Given the description of an element on the screen output the (x, y) to click on. 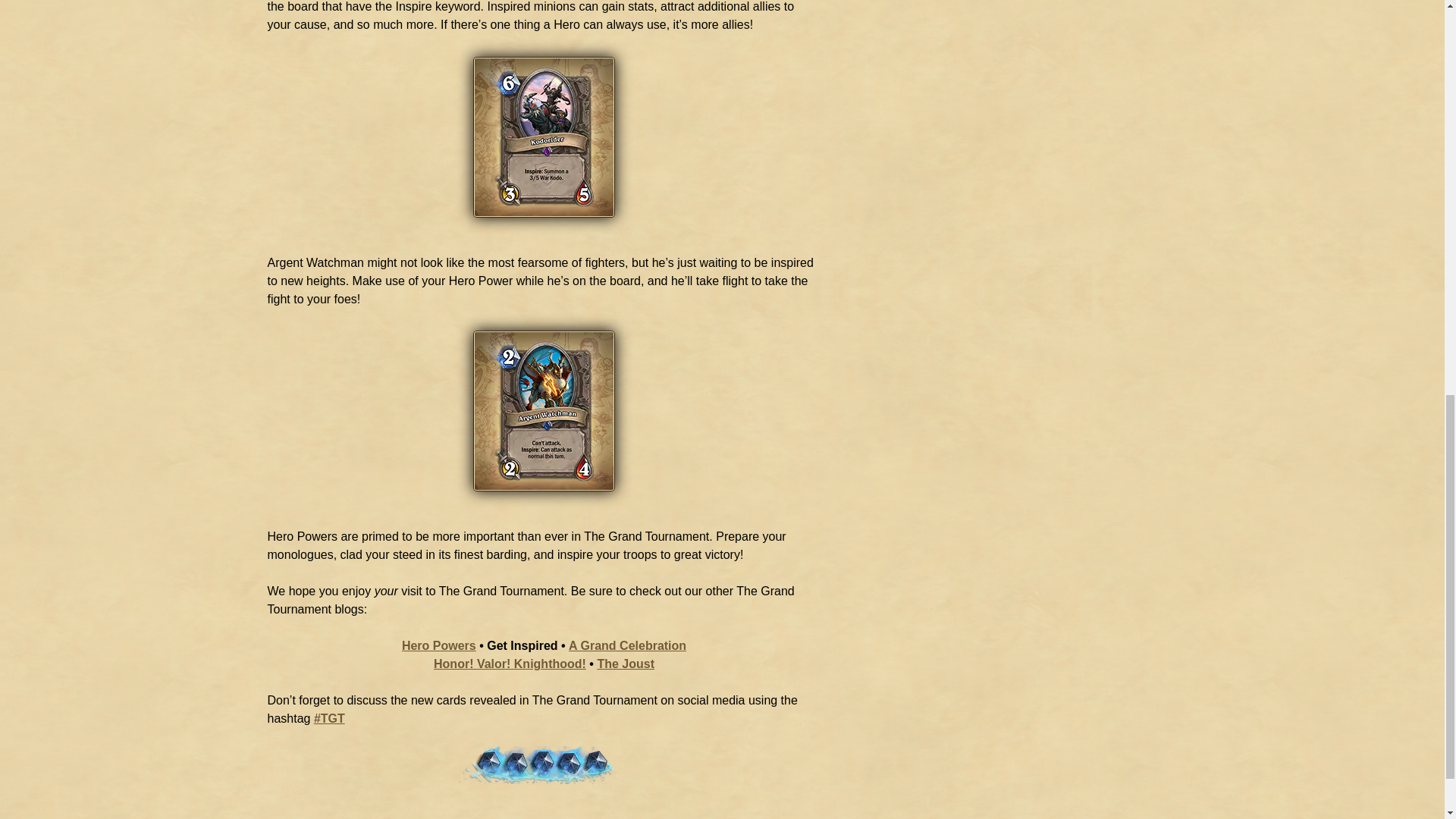
Honor! Valor! Knighthood! (509, 663)
The Joust (624, 663)
Hero Powers (438, 645)
A Grand Celebration (627, 645)
